Given the description of an element on the screen output the (x, y) to click on. 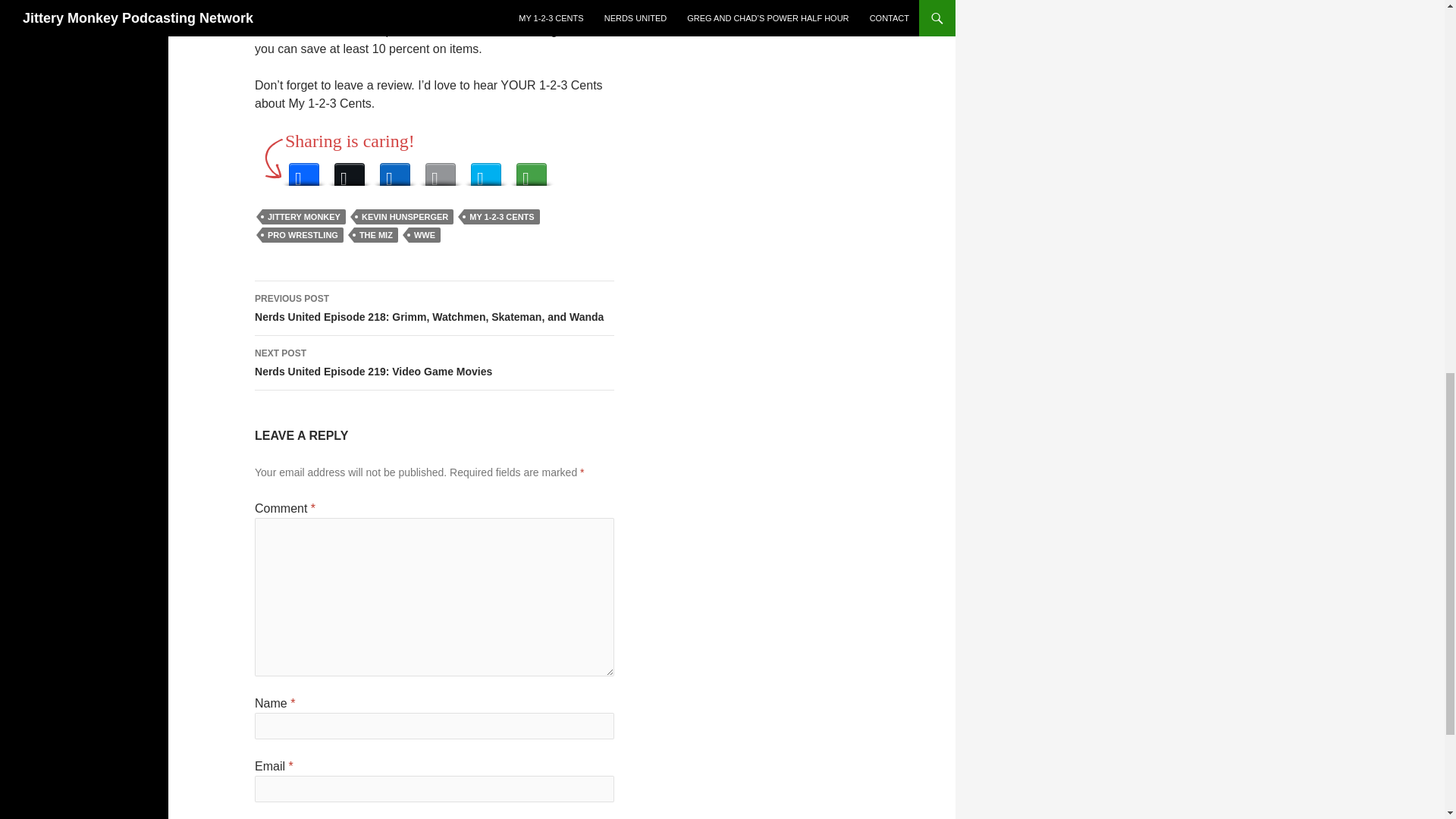
PRO WRESTLING (302, 234)
Pro Wrestling Tees store (467, 11)
JITTERY MONKEY (434, 362)
More Options (304, 216)
PrintFriendly (531, 170)
THE MIZ (485, 170)
LinkedIn (375, 234)
Email This (394, 170)
